Given the description of an element on the screen output the (x, y) to click on. 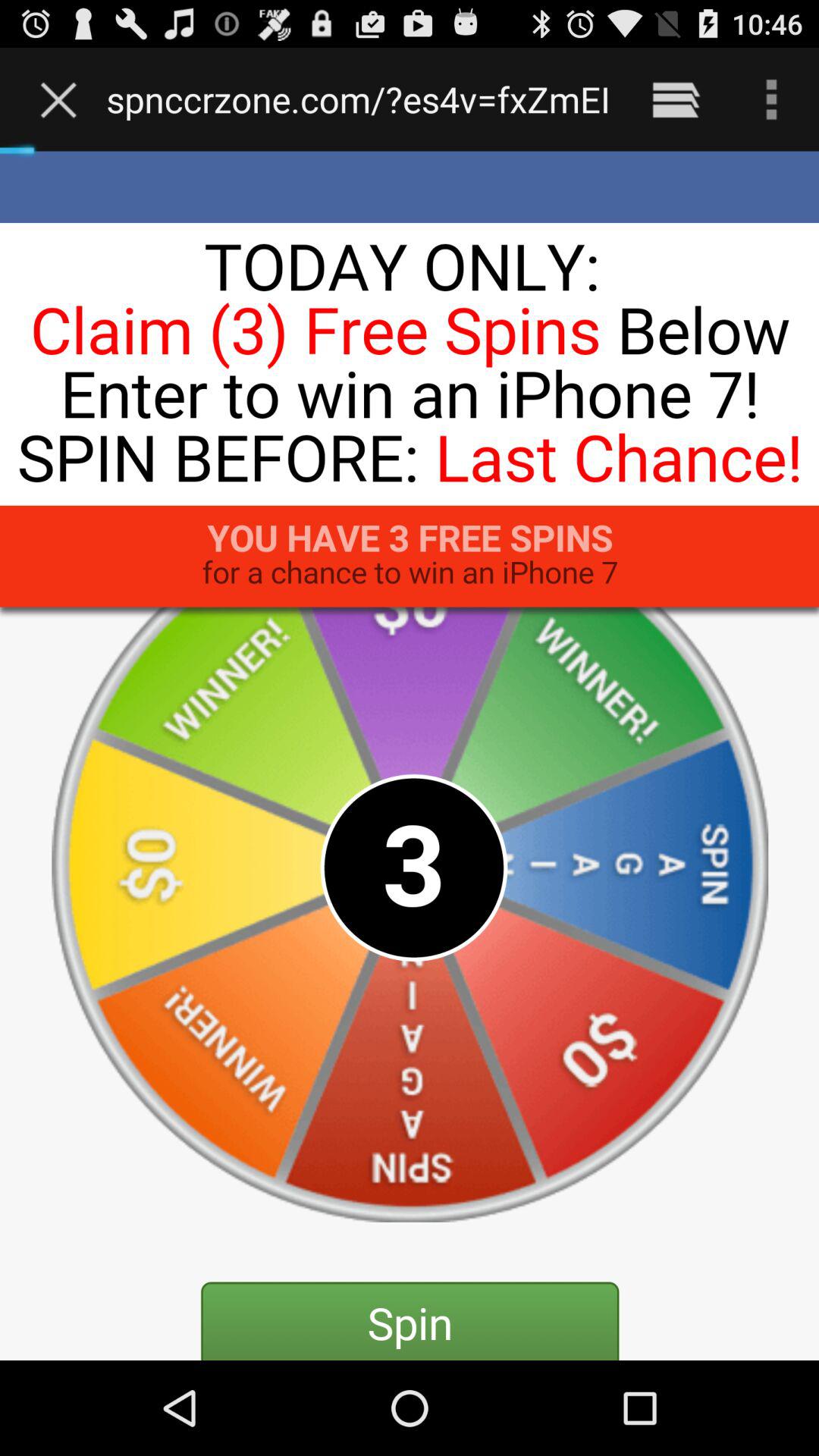
press item at the center (409, 755)
